Given the description of an element on the screen output the (x, y) to click on. 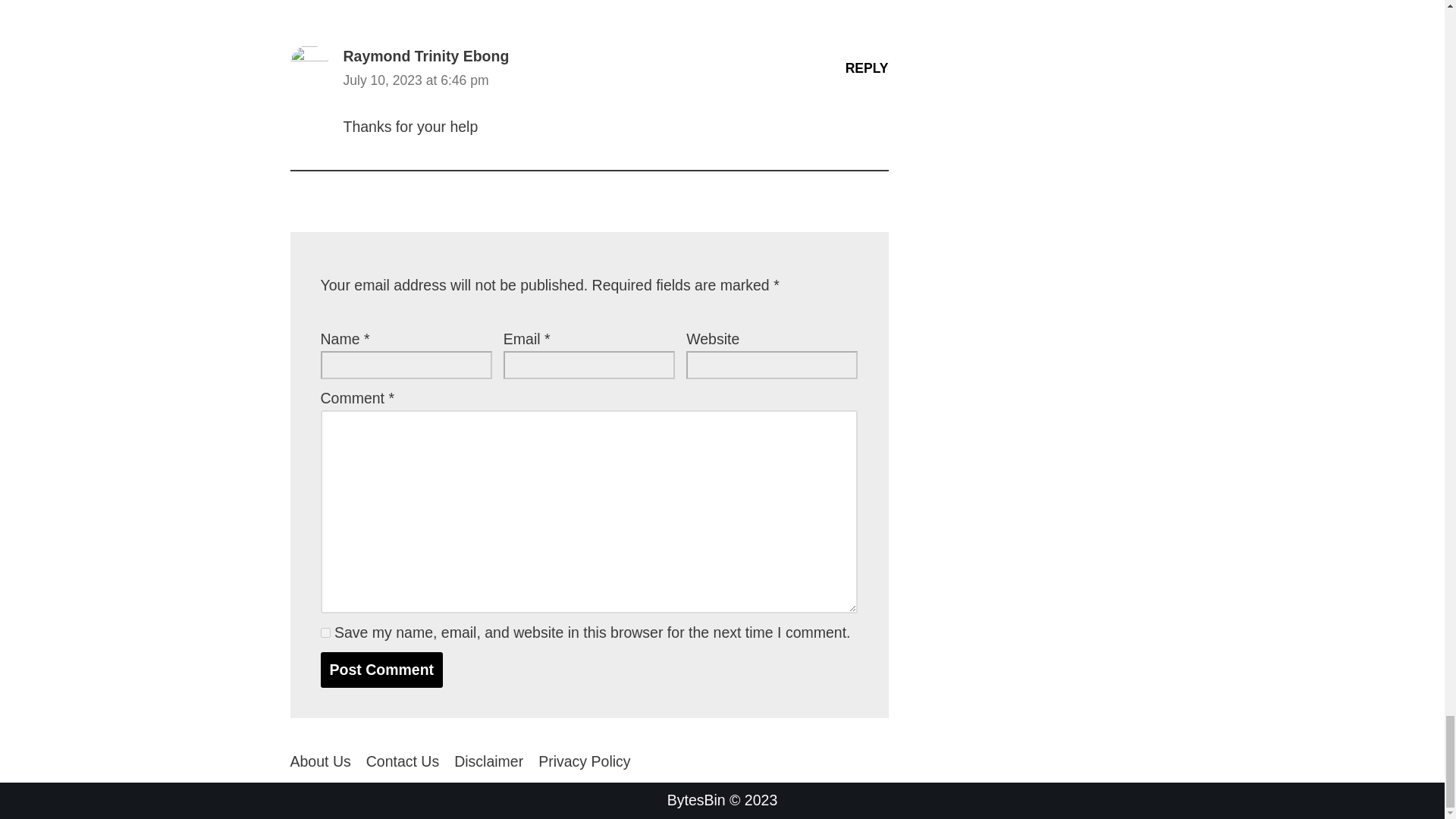
yes (325, 633)
REPLY (866, 68)
Post Comment (381, 669)
Post Comment (381, 669)
July 10, 2023 at 6:46 pm (425, 79)
